Given the description of an element on the screen output the (x, y) to click on. 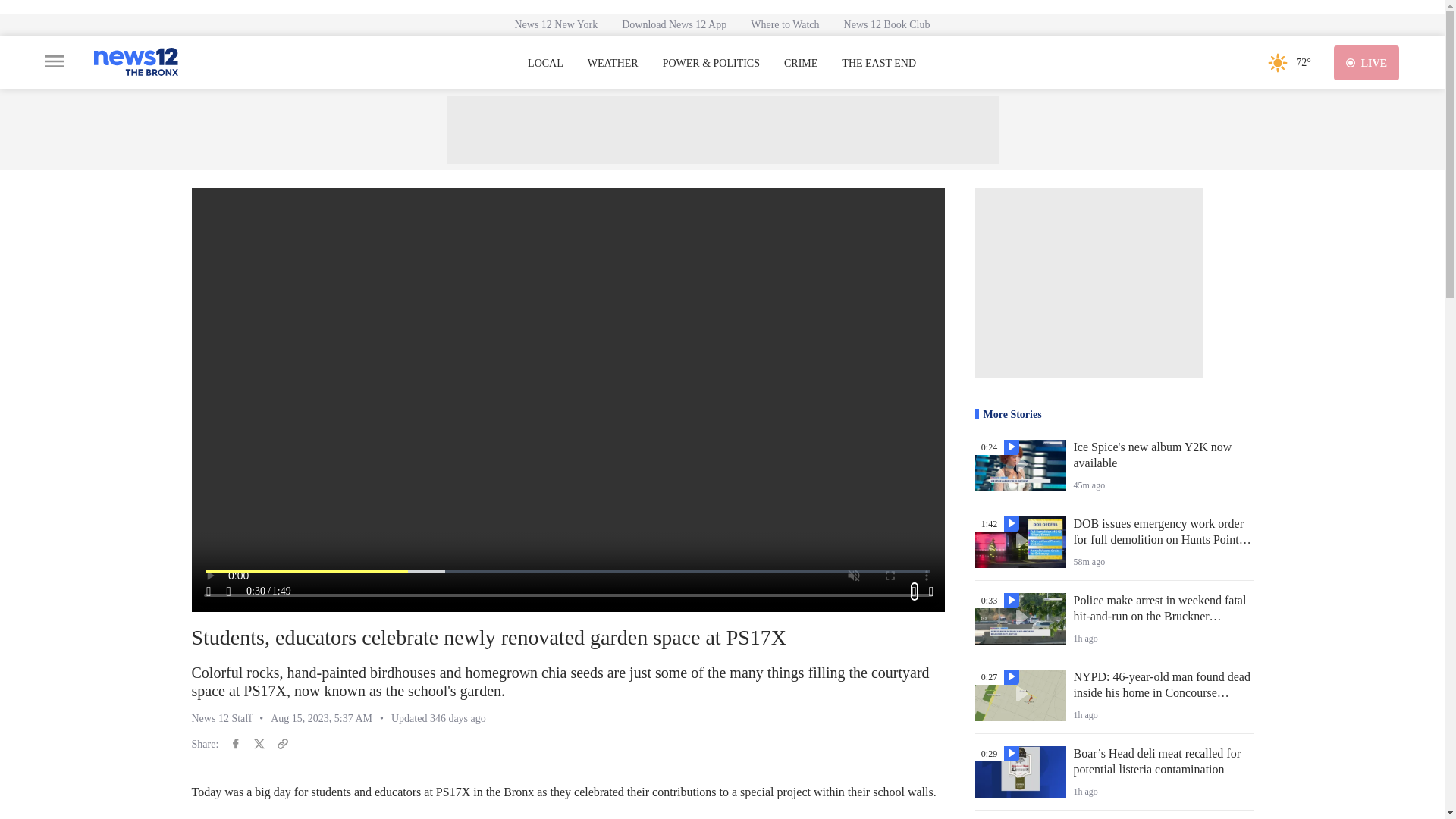
News 12 Book Club (886, 24)
THE EAST END (878, 63)
LIVE (1366, 62)
CRIME (800, 63)
3rd party ad content (721, 129)
News 12 New York (556, 24)
Where to Watch (784, 24)
WEATHER (613, 63)
Download News 12 App (673, 24)
LOCAL (545, 63)
Sunny (1277, 62)
